Given the description of an element on the screen output the (x, y) to click on. 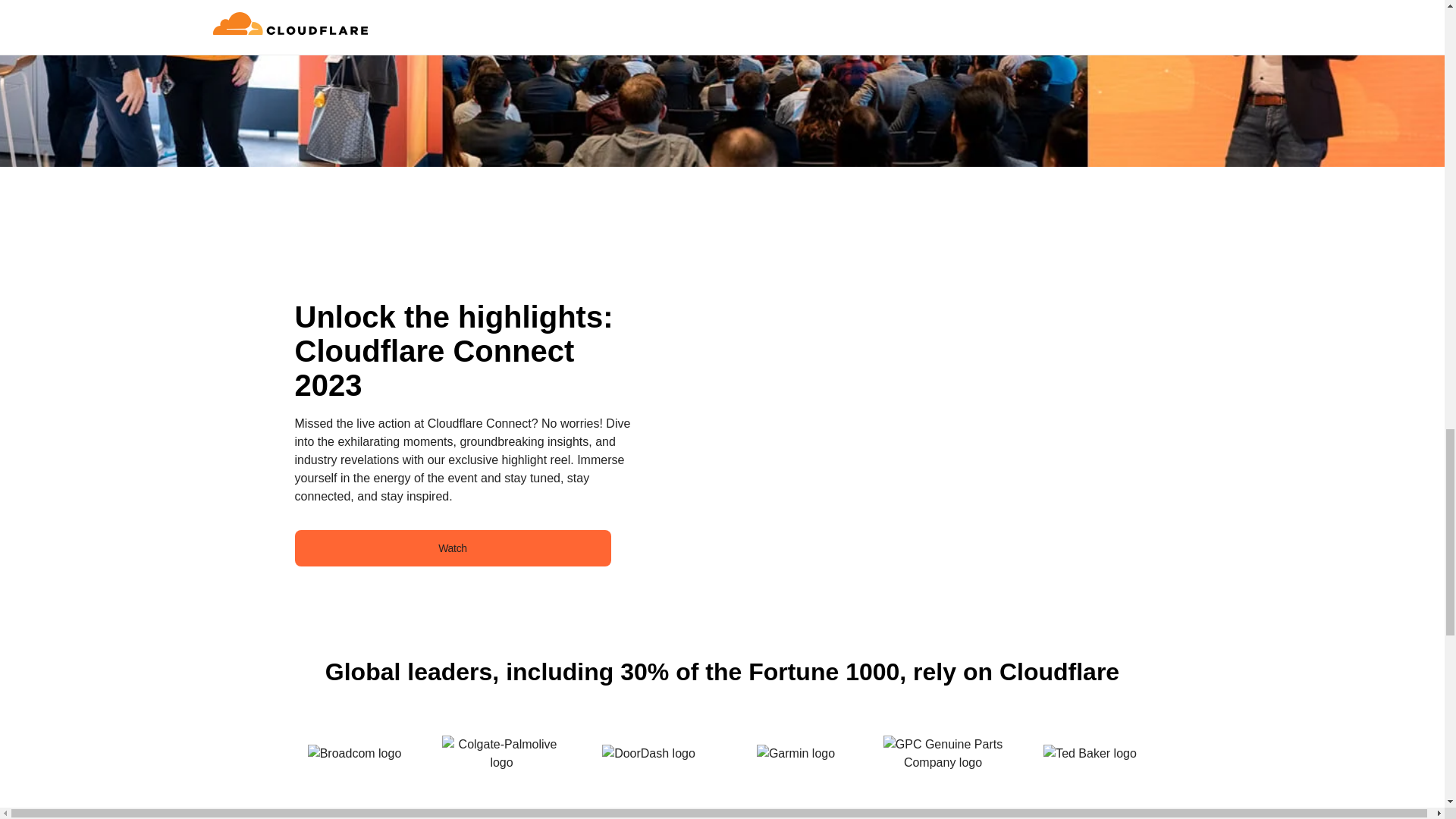
Watch (452, 547)
